Given the description of an element on the screen output the (x, y) to click on. 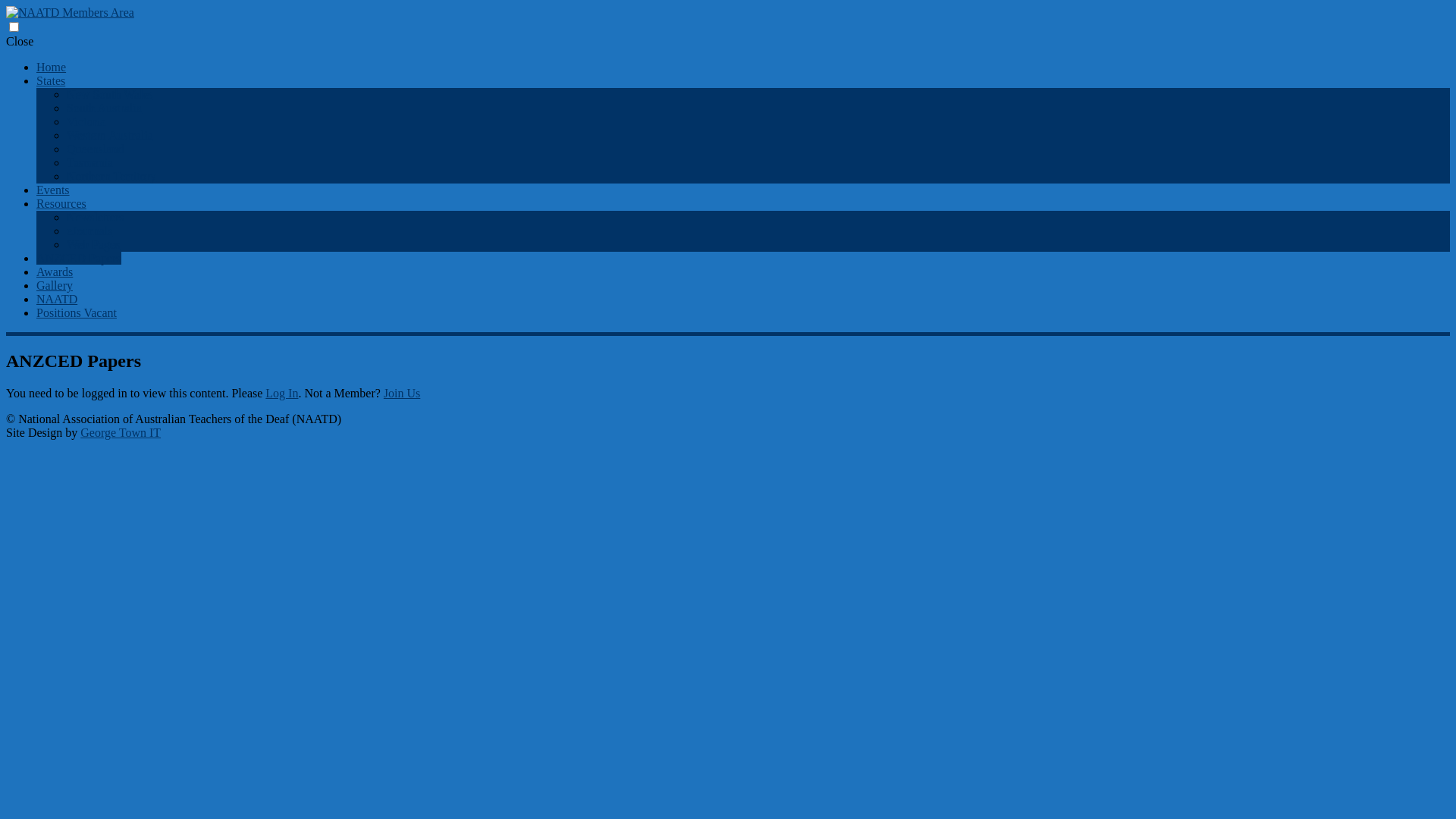
South Australia Element type: text (103, 107)
New South Wales Element type: text (109, 93)
Skip to content Element type: text (32, 34)
Northern Territory Element type: text (111, 175)
Log In Element type: text (281, 392)
Tasmania Element type: text (89, 162)
Resources Element type: text (61, 203)
eJournals Element type: text (89, 230)
Web Pages Element type: text (92, 244)
Events Element type: text (52, 189)
ANZCED Papers Element type: text (78, 257)
Western Australia Element type: text (109, 134)
George Town IT Element type: text (120, 432)
Home Element type: text (50, 66)
Close Element type: text (19, 40)
Queensland Element type: text (95, 148)
Gallery Element type: text (54, 285)
Join Us Element type: text (401, 392)
Newsletters Element type: text (95, 216)
NAATD Element type: text (56, 298)
Victoria Element type: text (85, 121)
Awards Element type: text (54, 271)
Positions Vacant Element type: text (76, 312)
States Element type: text (50, 80)
